Given the description of an element on the screen output the (x, y) to click on. 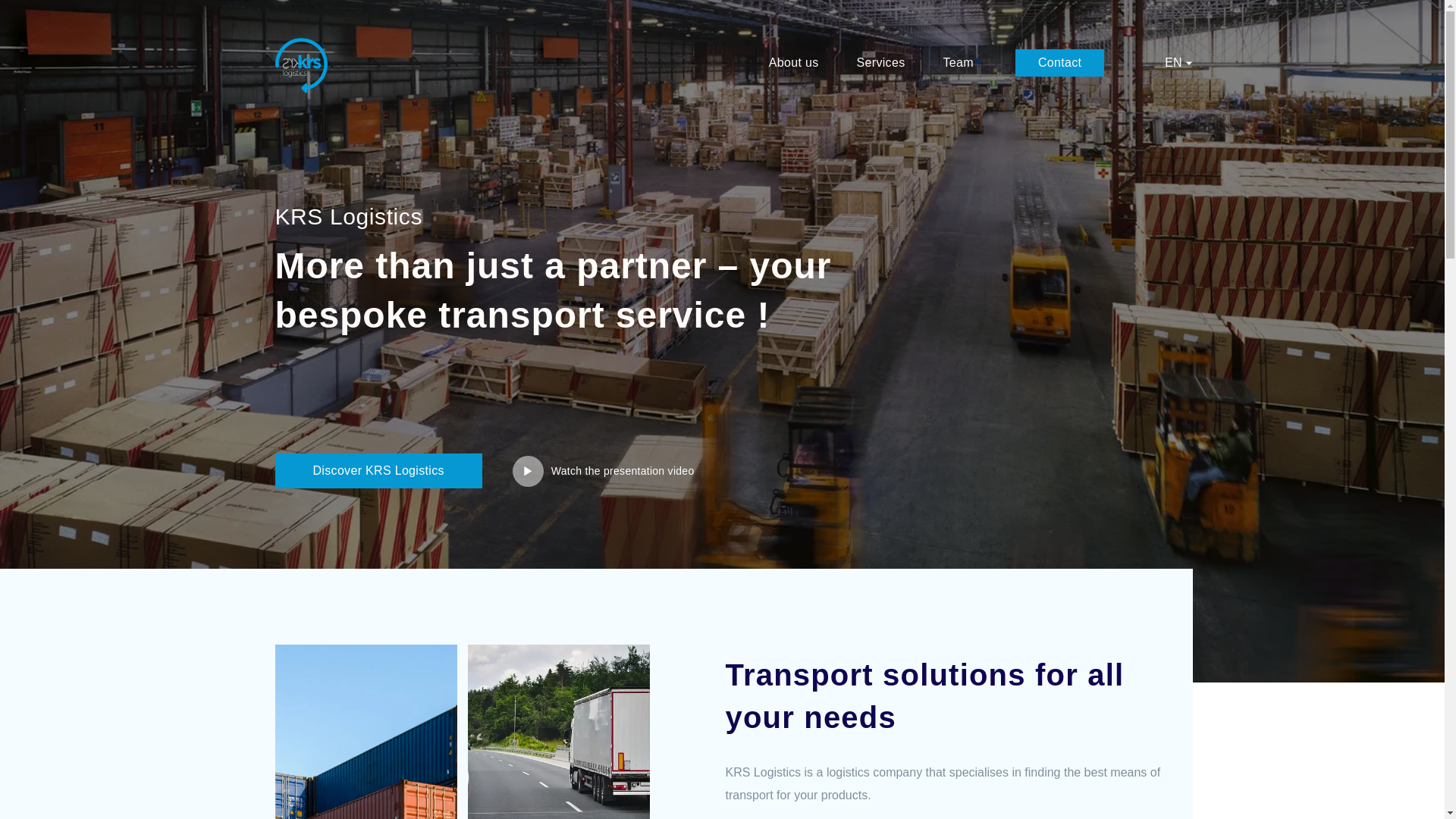
Services (881, 62)
Discover KRS Logistics (378, 470)
Contact (1058, 62)
Team (957, 62)
About us (793, 62)
Watch the presentation video (603, 470)
